Given the description of an element on the screen output the (x, y) to click on. 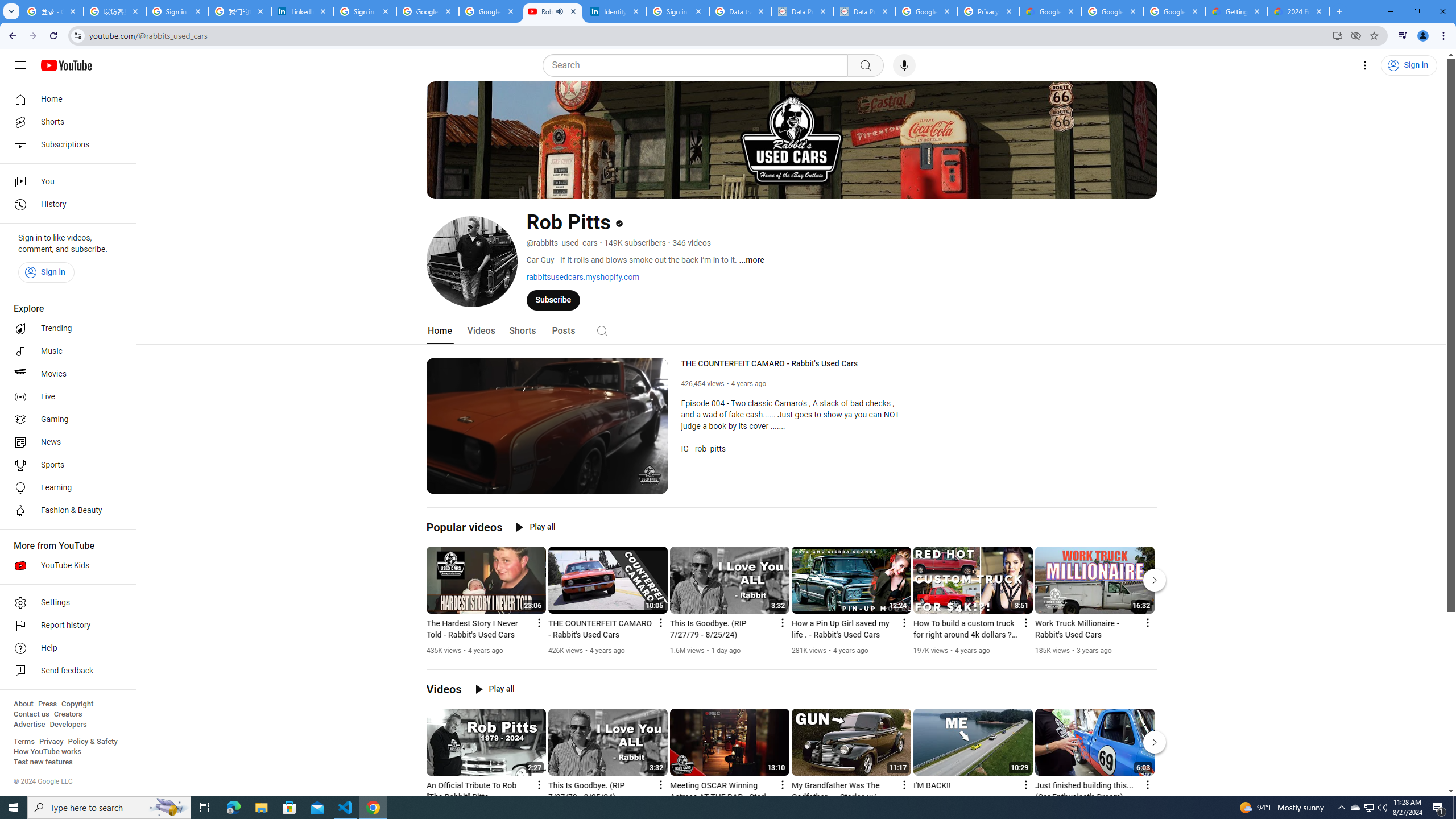
LinkedIn Privacy Policy (302, 11)
Test new features (42, 761)
Data Privacy Framework (802, 11)
Shorts (521, 330)
How YouTube works (47, 751)
Help (64, 648)
Sign in - Google Accounts (678, 11)
Search (600, 330)
rabbitsusedcars.myshopify.com (582, 276)
Press (46, 703)
Channel watermark (649, 475)
